Given the description of an element on the screen output the (x, y) to click on. 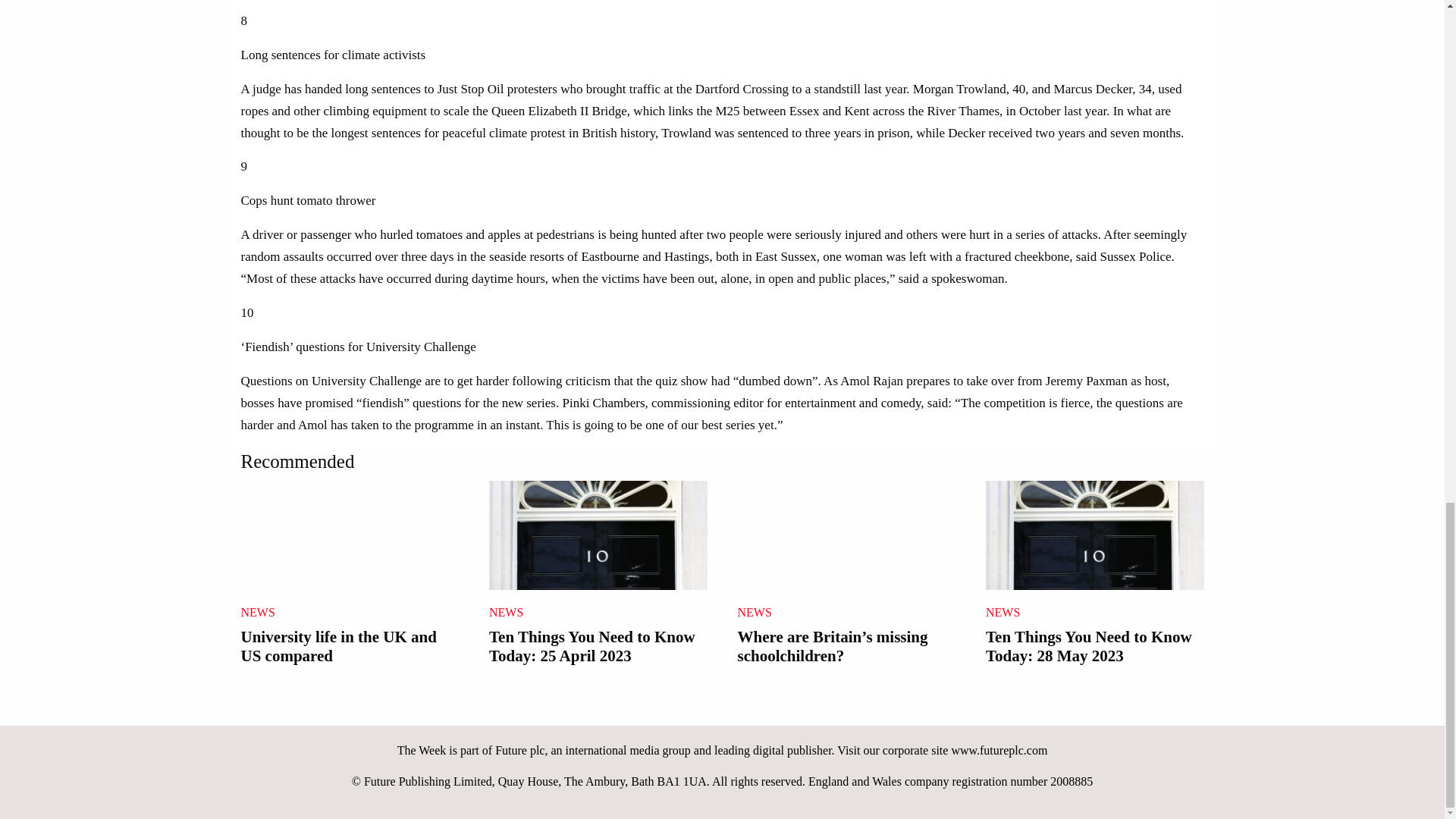
Ten Things You Need to Know Today: 28 May 2023 (1094, 575)
University life in the UK and US compared (350, 575)
Ten Things You Need to Know Today: 25 April 2023 (598, 575)
